Given the description of an element on the screen output the (x, y) to click on. 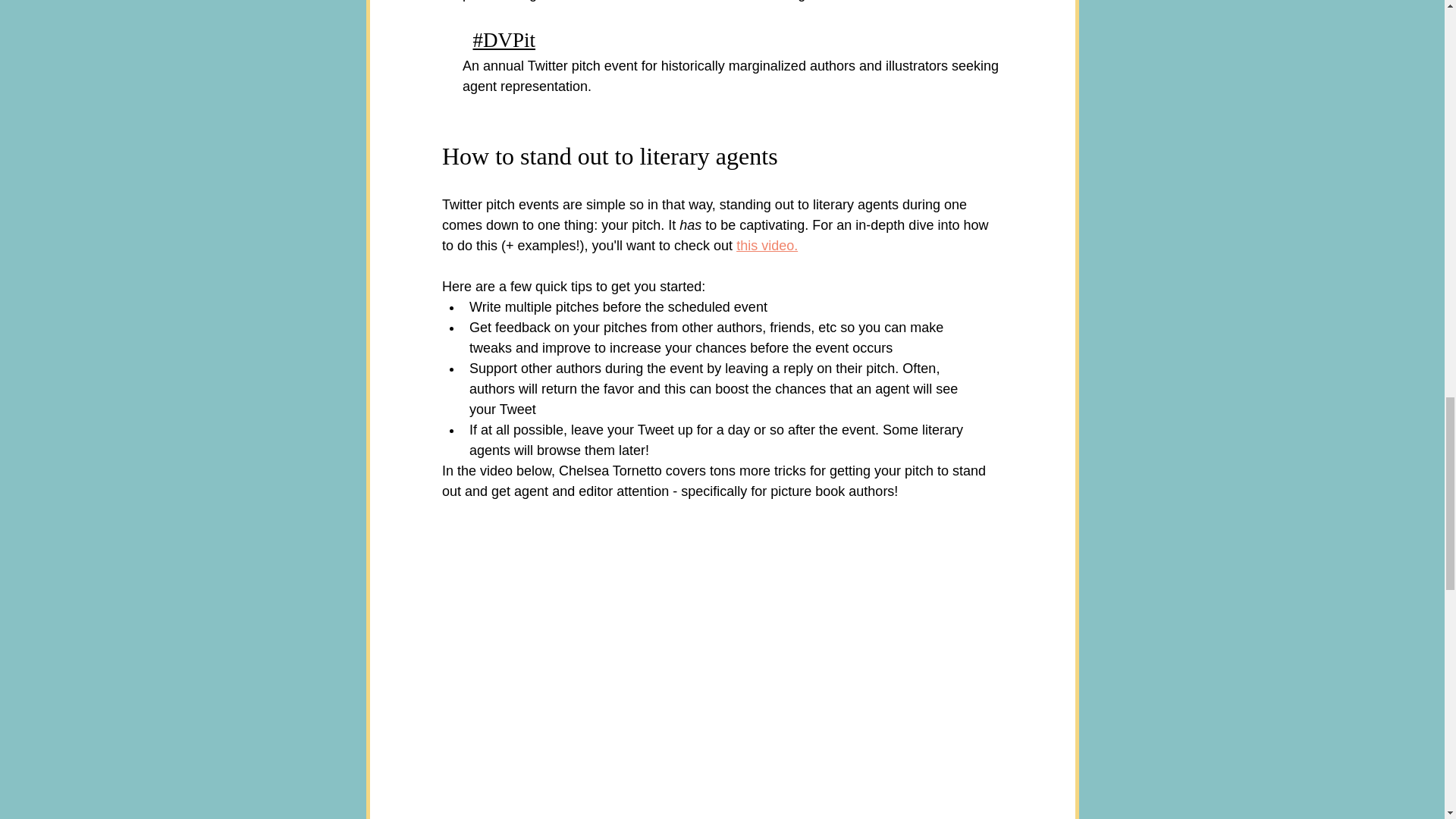
ricos-video (722, 559)
this video. (766, 244)
